Given the description of an element on the screen output the (x, y) to click on. 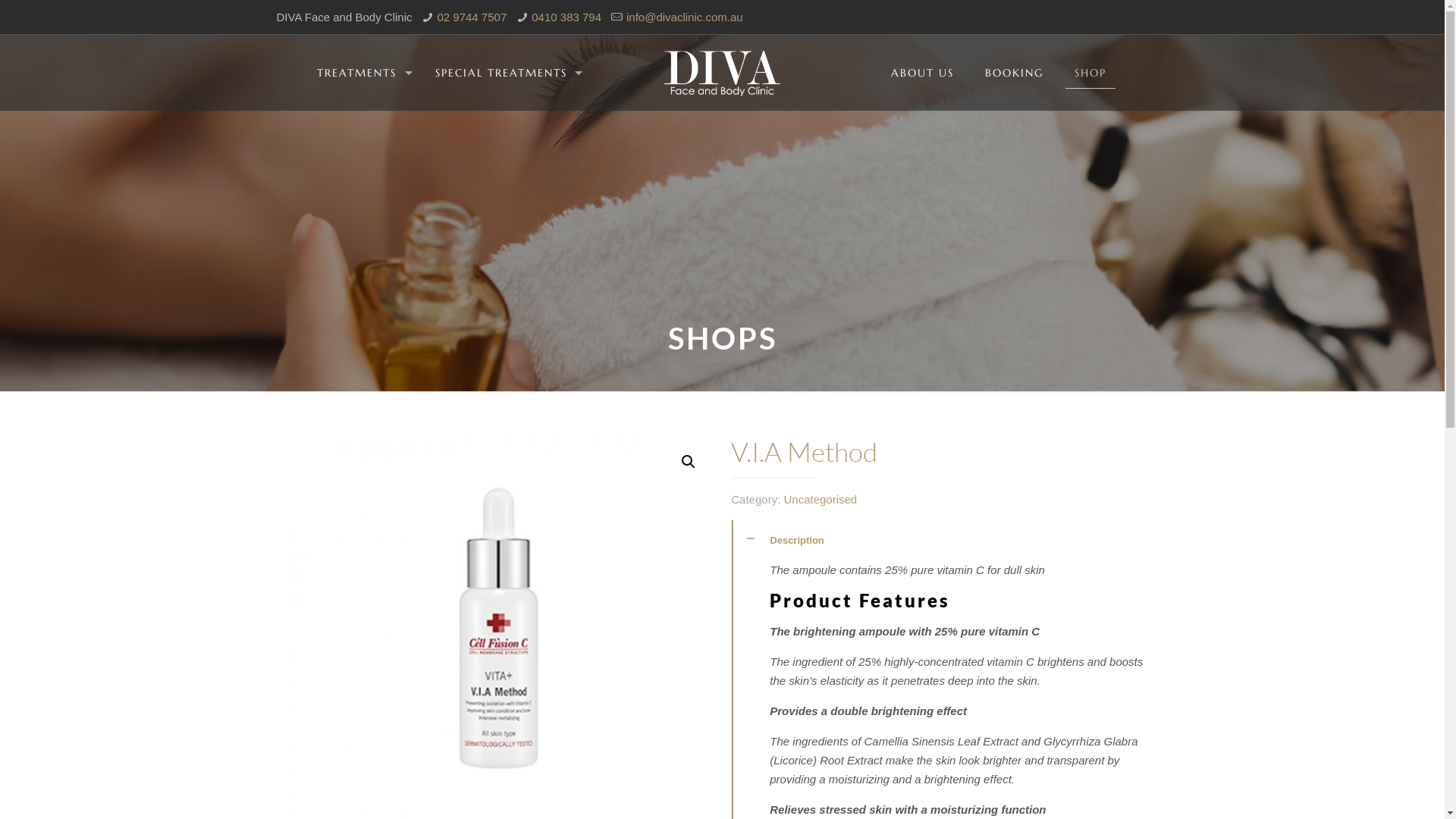
02 9744 7507 Element type: text (471, 16)
ABOUT US Element type: text (922, 72)
diva_V.I.A Method Element type: hover (498, 627)
TREATMENTS Element type: text (360, 72)
info@divaclinic.com.au Element type: text (684, 16)
SPECIAL TREATMENTS Element type: text (504, 72)
SHOP Element type: text (1090, 72)
DIVA Clinic Element type: hover (721, 72)
Uncategorised Element type: text (819, 498)
BOOKING Element type: text (1014, 72)
0410 383 794 Element type: text (566, 16)
